Given the description of an element on the screen output the (x, y) to click on. 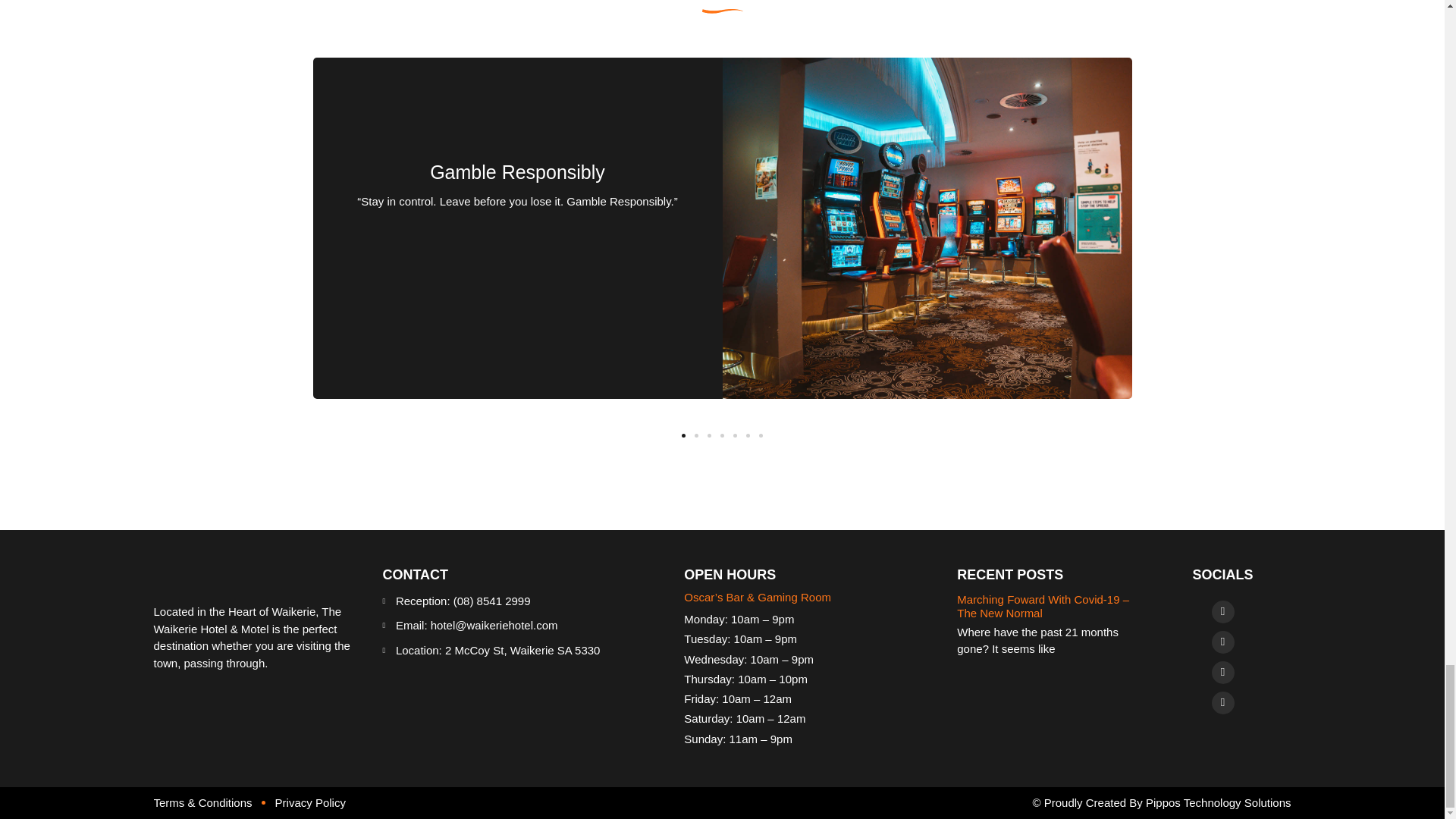
Location: 2 McCoy St, Waikerie SA 5330 (513, 651)
